Given the description of an element on the screen output the (x, y) to click on. 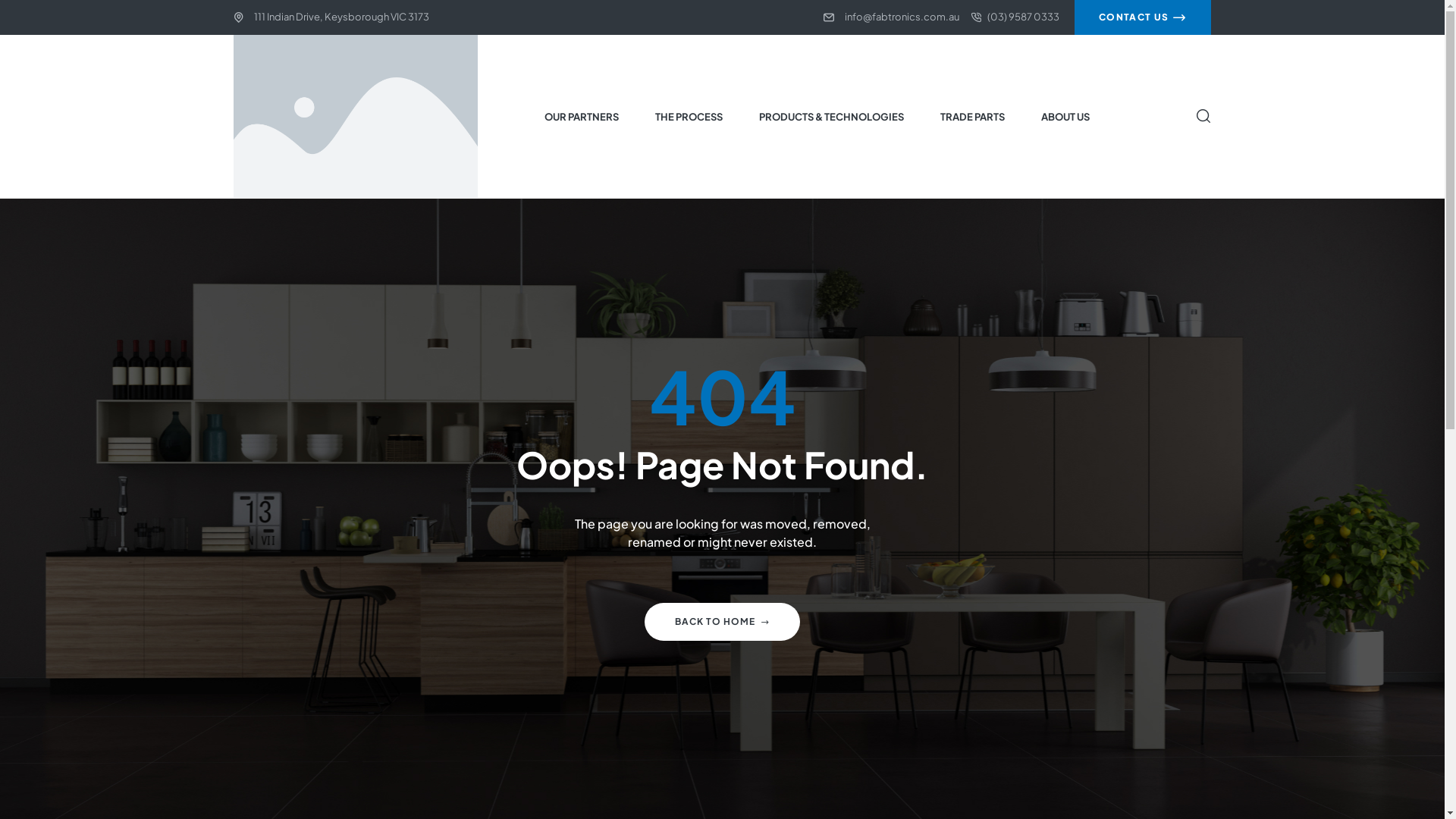
PRODUCTS & TECHNOLOGIES Element type: text (830, 115)
TRADE PARTS Element type: text (972, 115)
THE PROCESS Element type: text (688, 115)
ABOUT US Element type: text (1065, 115)
BACK TO HOME Element type: text (722, 621)
OUR PARTNERS Element type: text (581, 115)
CONTACT US Element type: text (1142, 17)
